Given the description of an element on the screen output the (x, y) to click on. 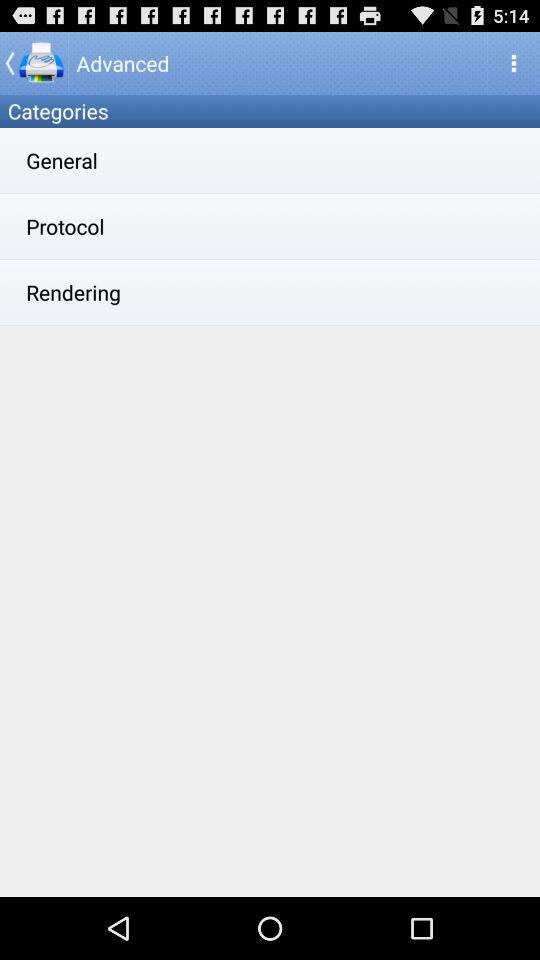
click the item above the categories app (34, 62)
